Given the description of an element on the screen output the (x, y) to click on. 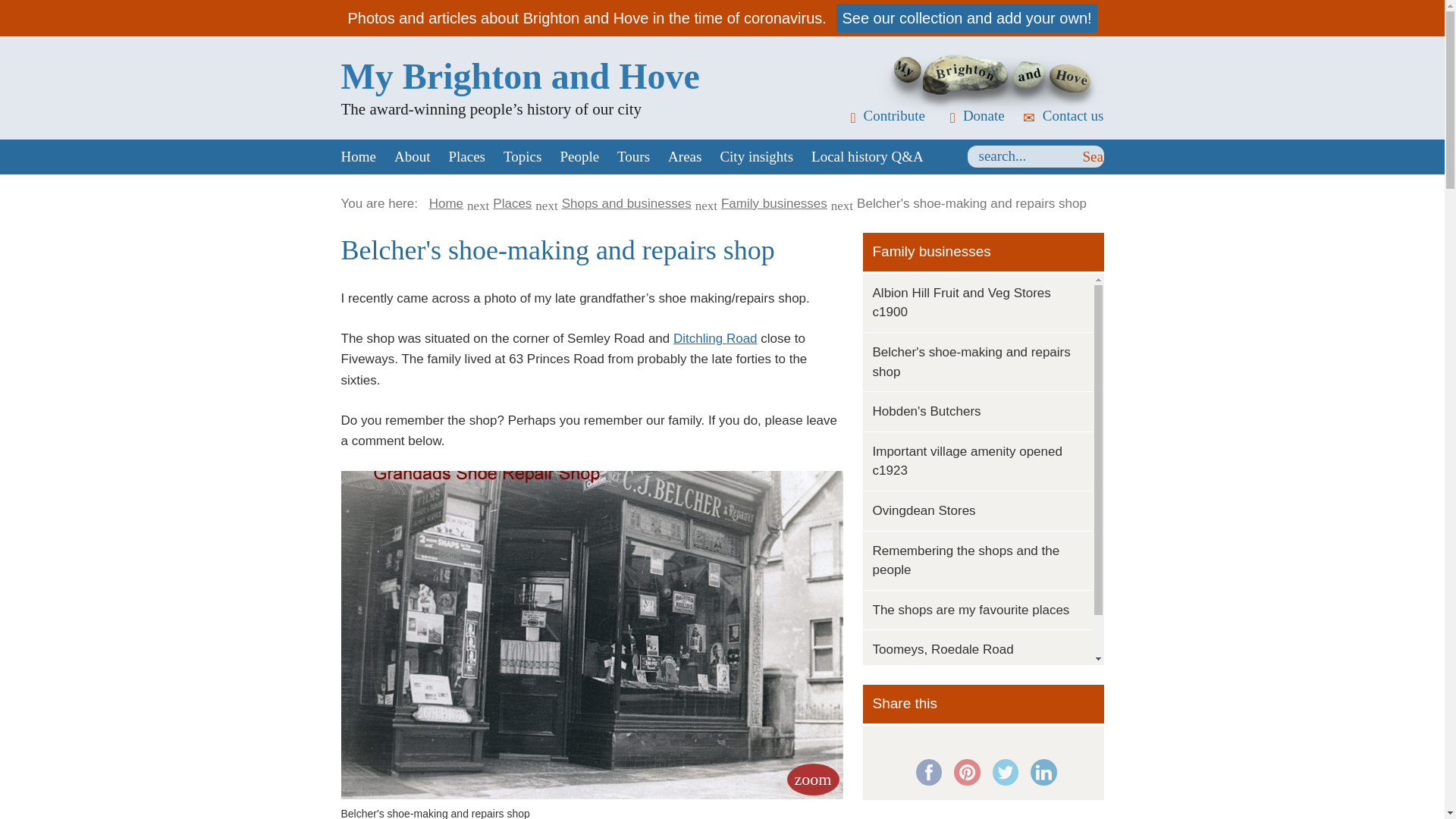
City insights (756, 156)
Important village amenity opened c1923 (967, 461)
Donate (972, 115)
Facebook (928, 772)
Twitter (1004, 772)
Search (1093, 156)
Tours (633, 156)
Places (467, 156)
LinkedIn (1043, 772)
Contribute (882, 115)
Home (358, 156)
Contact us (1061, 115)
Topics (522, 156)
People (579, 156)
